Given the description of an element on the screen output the (x, y) to click on. 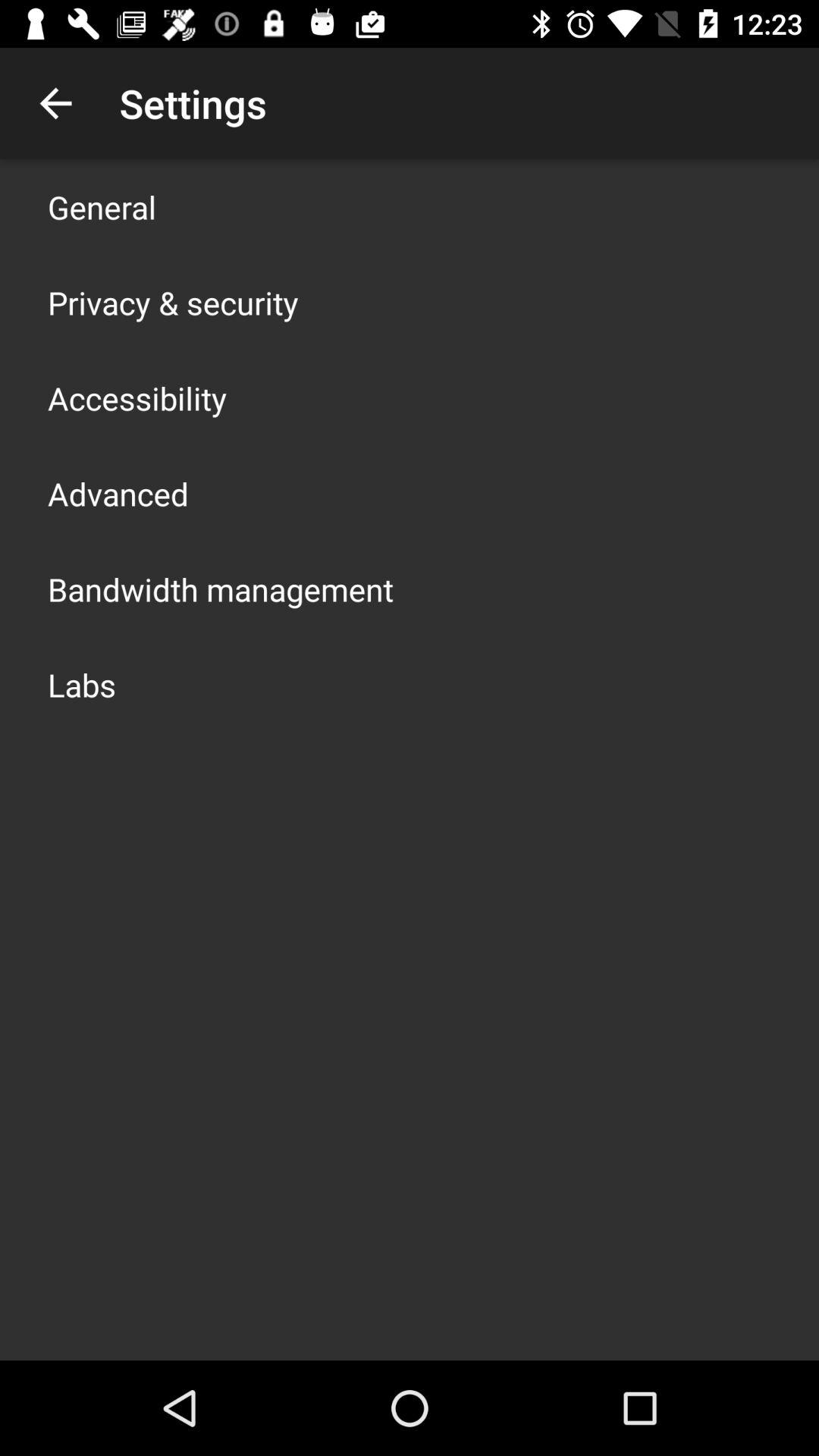
turn off the accessibility item (136, 397)
